Given the description of an element on the screen output the (x, y) to click on. 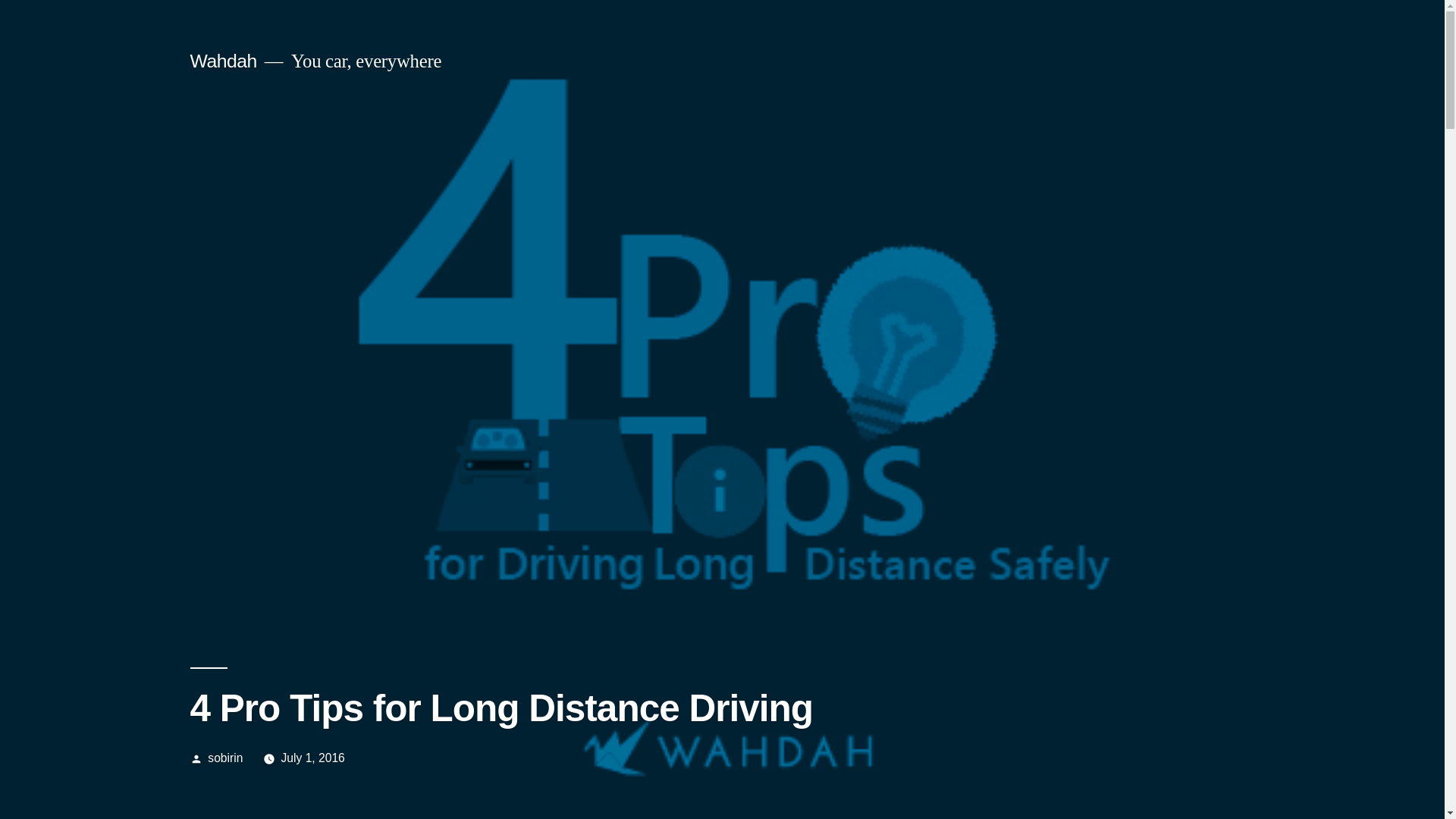
Wahdah (222, 60)
July 1, 2016 (312, 757)
sobirin (225, 757)
